Given the description of an element on the screen output the (x, y) to click on. 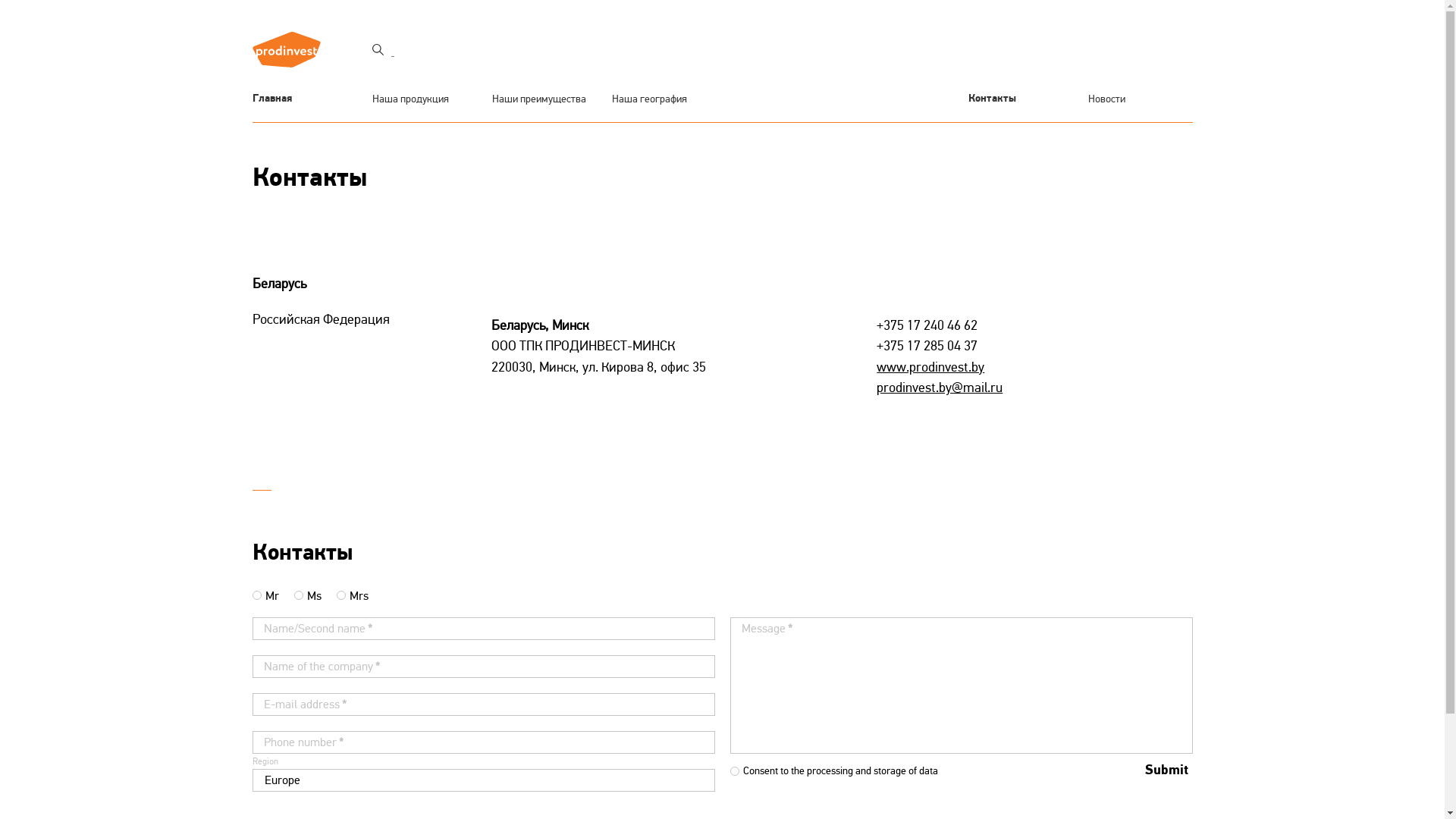
www.prodinvest.by Element type: text (930, 366)
Submit Element type: text (1166, 770)
prodinvest.by@mail.ru Element type: text (939, 387)
